Given the description of an element on the screen output the (x, y) to click on. 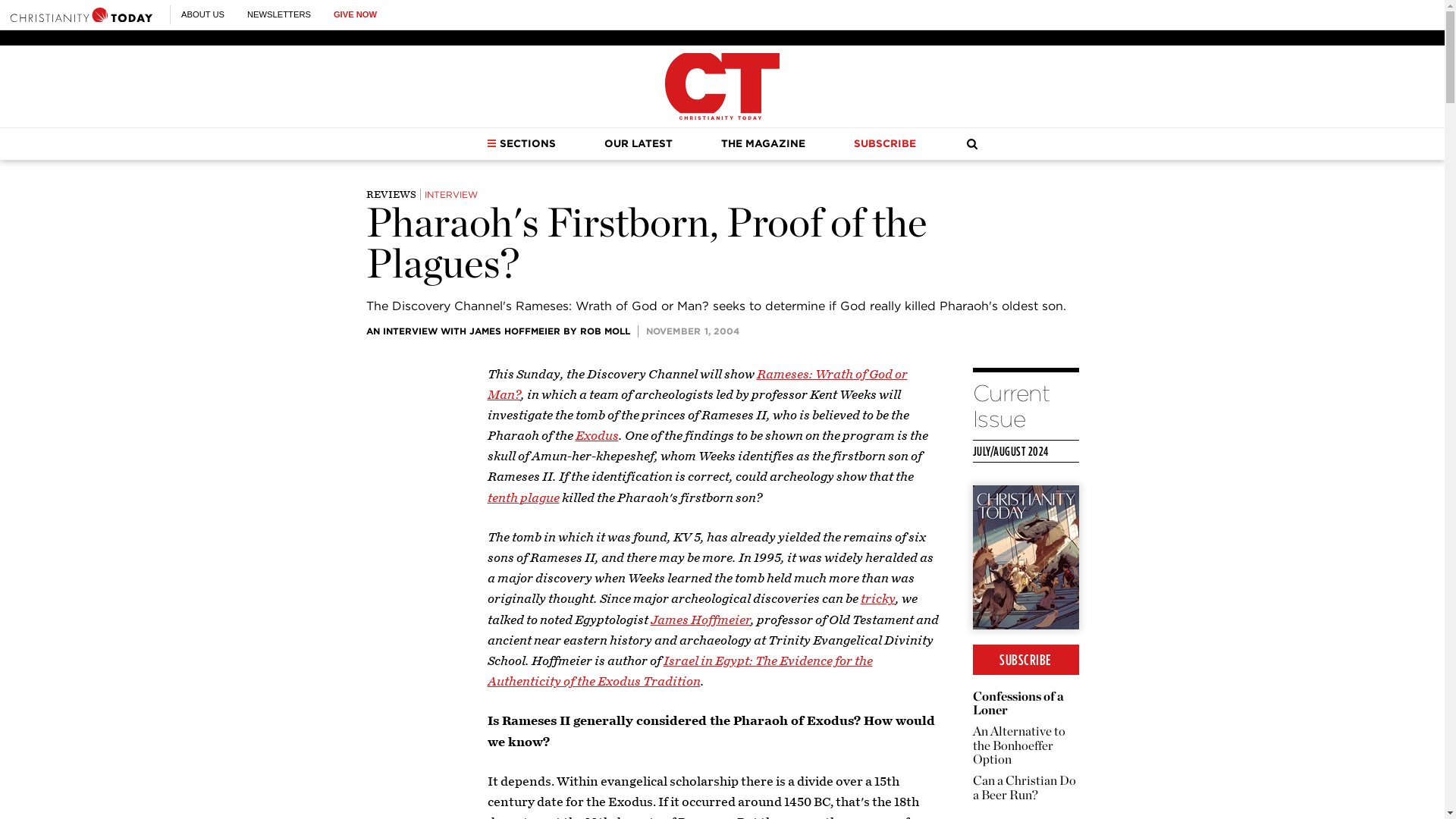
SECTIONS (521, 143)
ABOUT US (202, 14)
Christianity Today (81, 14)
NEWSLETTERS (278, 14)
Christianity Today (721, 86)
Sections Dropdown (491, 143)
GIVE NOW (355, 14)
